Given the description of an element on the screen output the (x, y) to click on. 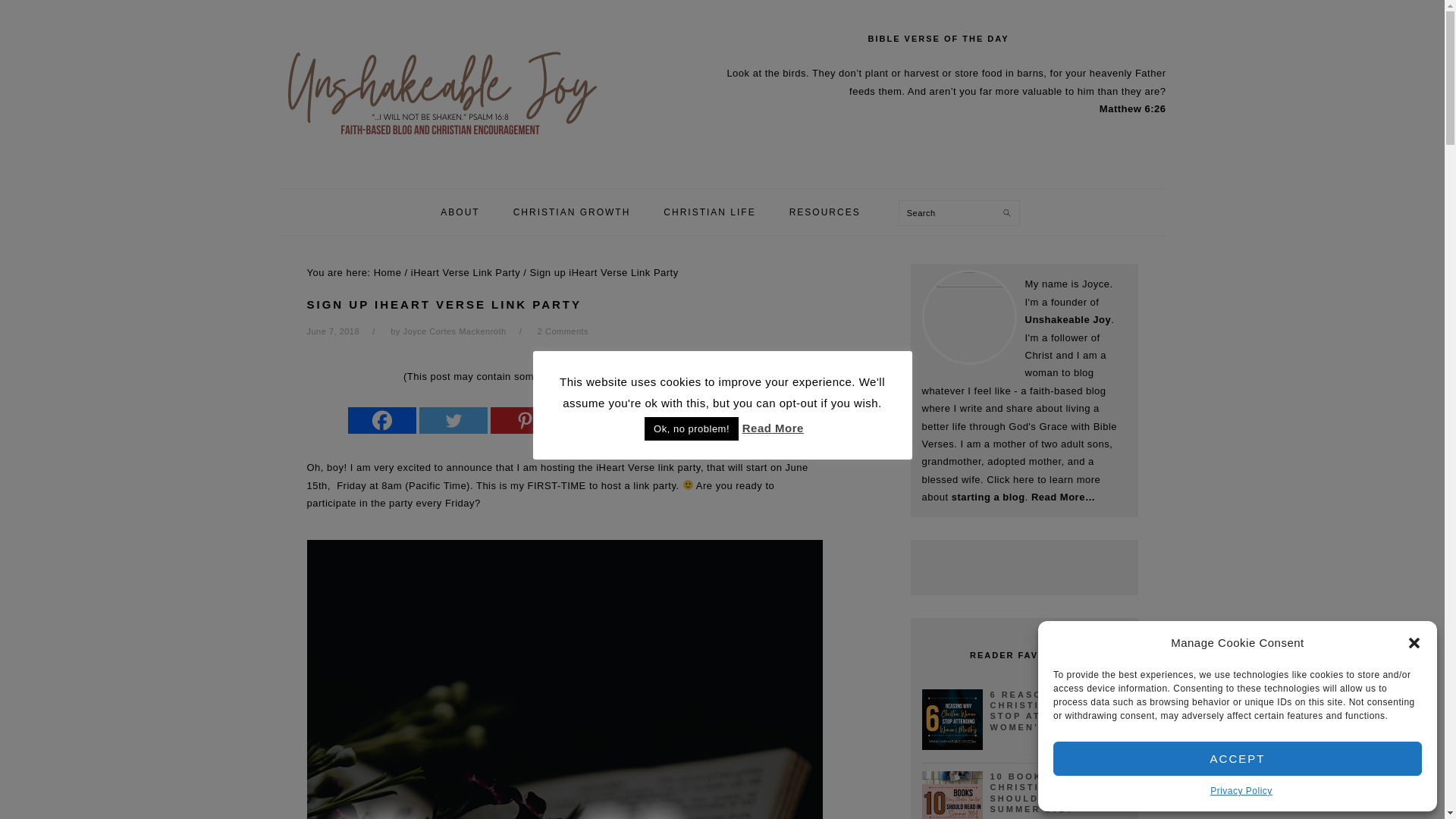
RSS Feed (596, 420)
iHeart Verse Link Party (464, 272)
CHRISTIAN LIFE (709, 212)
Pinterest (524, 420)
UNSHAKEABLE JOY (468, 89)
Joyce Cortes Mackenroth (454, 330)
Privacy Policy (1240, 791)
Home (387, 272)
More (667, 420)
Facebook (381, 420)
Twitter (453, 420)
ABOUT (460, 212)
ACCEPT (1237, 758)
